Given the description of an element on the screen output the (x, y) to click on. 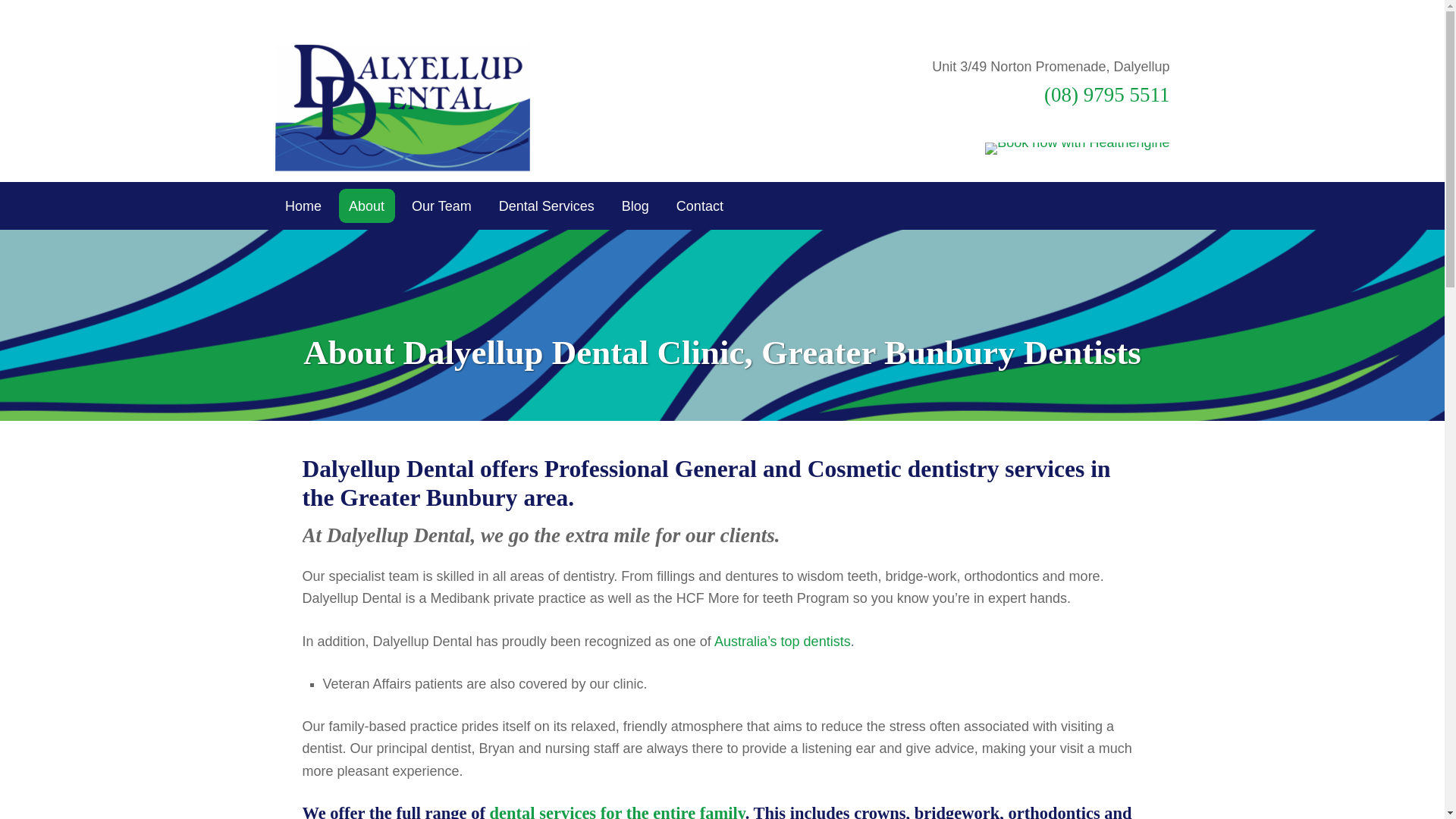
Dental Services (545, 205)
About (366, 205)
Home (303, 205)
Contact (699, 205)
Our Team (441, 205)
Blog (635, 205)
dental services for the entire family (617, 811)
Contact Dalyellup Dental (699, 205)
Dalyellup Dental Services (545, 205)
